Given the description of an element on the screen output the (x, y) to click on. 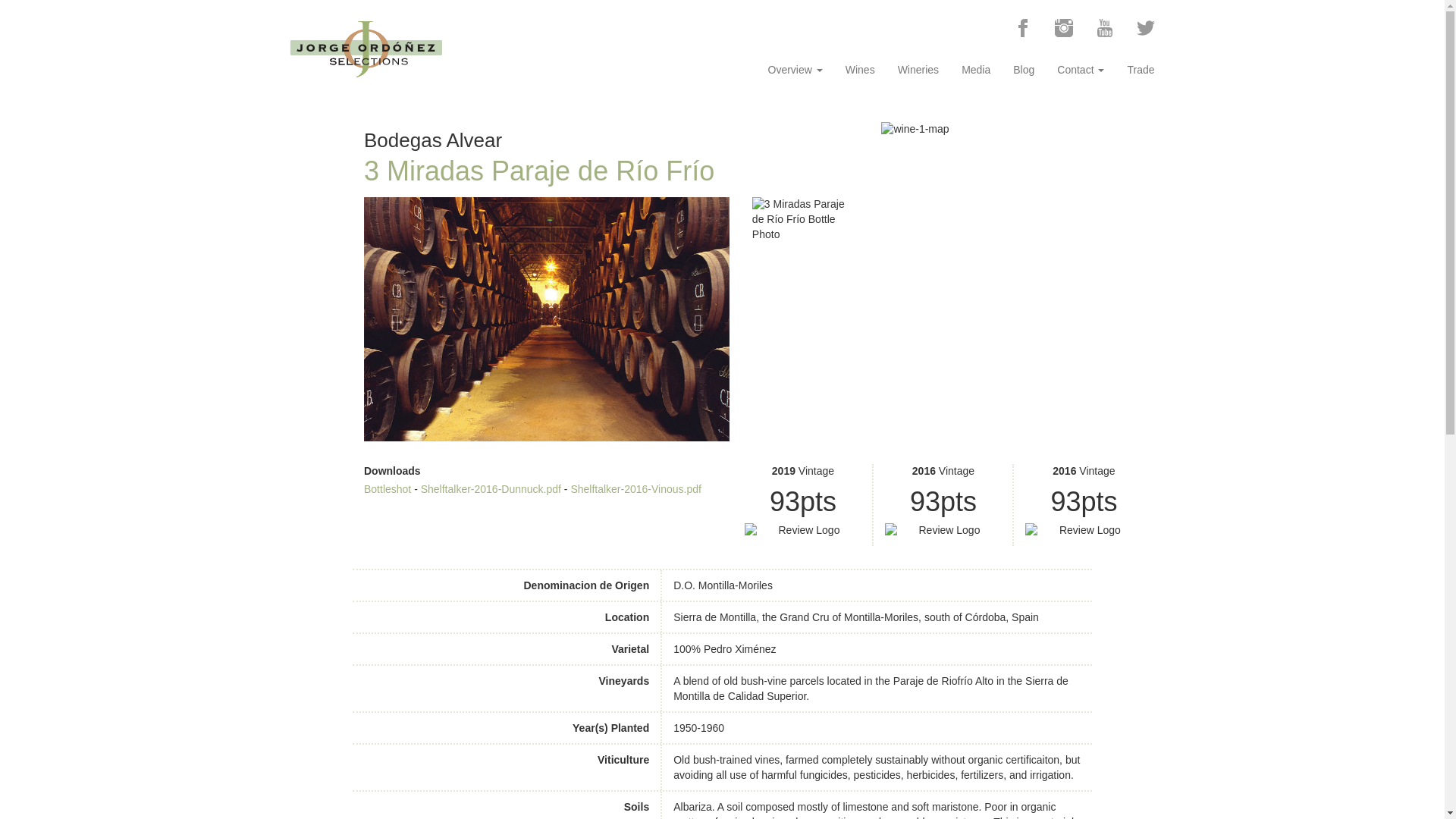
Shelftalker-2016-Vinous.pdf (635, 489)
Contact (1080, 68)
Shelftalker-2016-Dunnuck.pdf (490, 489)
Wines (860, 68)
Bottleshot (387, 489)
Trade (1140, 68)
Wineries (918, 68)
Overview (795, 68)
Media (975, 68)
